Given the description of an element on the screen output the (x, y) to click on. 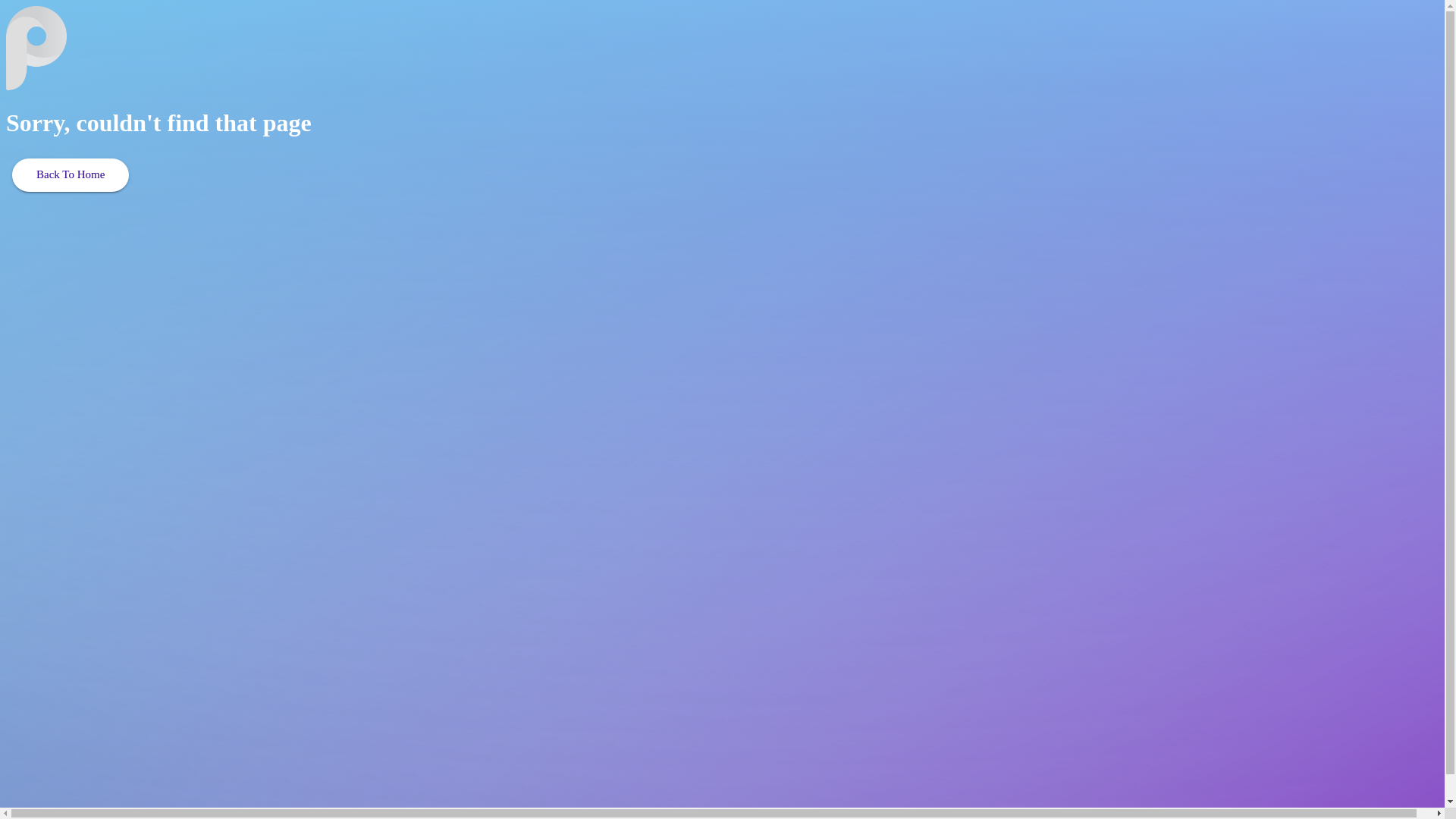
Back To Home Element type: text (70, 174)
